Given the description of an element on the screen output the (x, y) to click on. 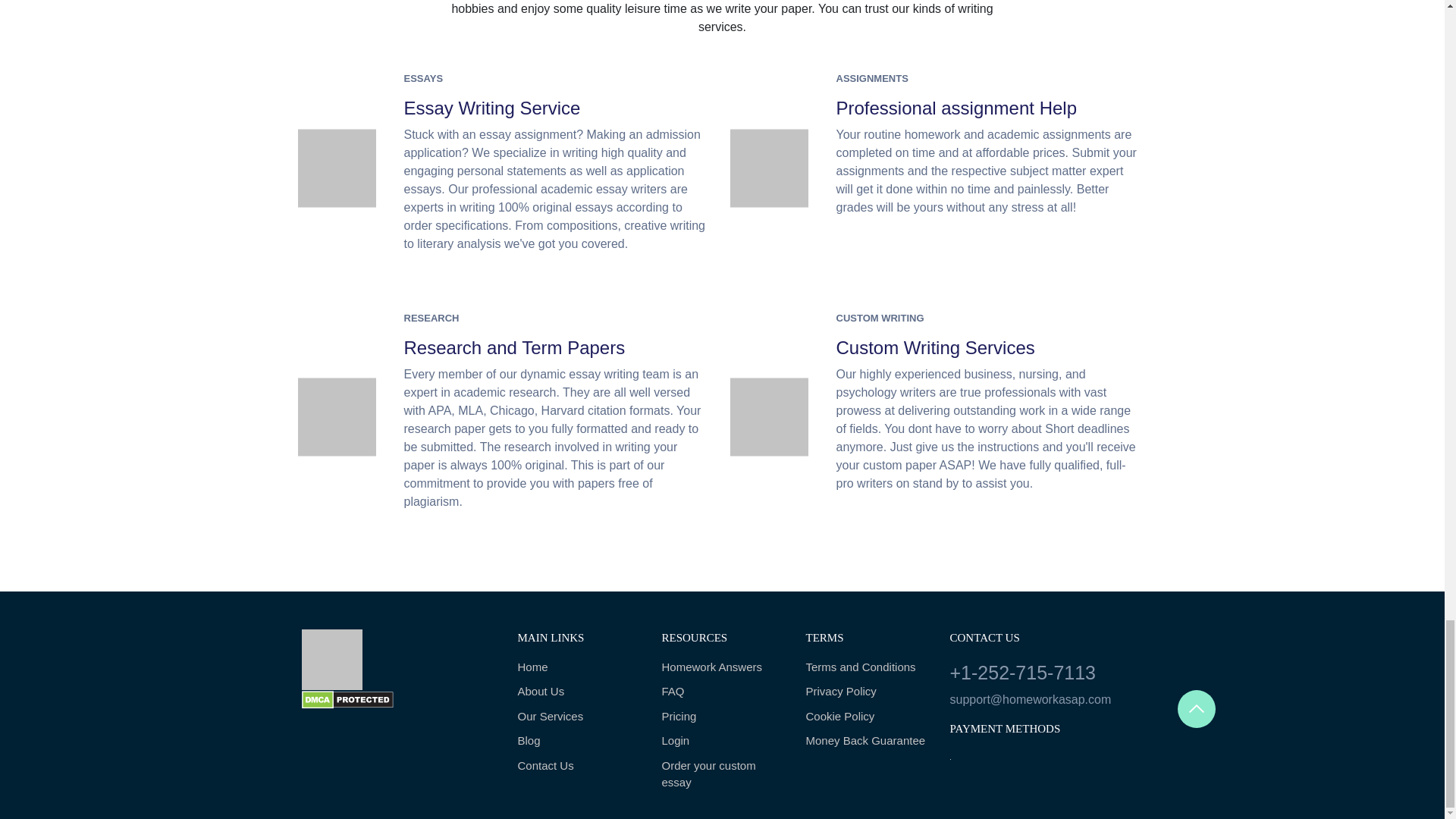
Our Services (577, 716)
Order your custom essay (722, 774)
Login (722, 741)
Homework Answers (722, 667)
FAQ (722, 692)
Privacy Policy (865, 692)
Blog (577, 741)
Home (577, 667)
Money Back Guarantee (865, 741)
Pricing (722, 716)
